Given the description of an element on the screen output the (x, y) to click on. 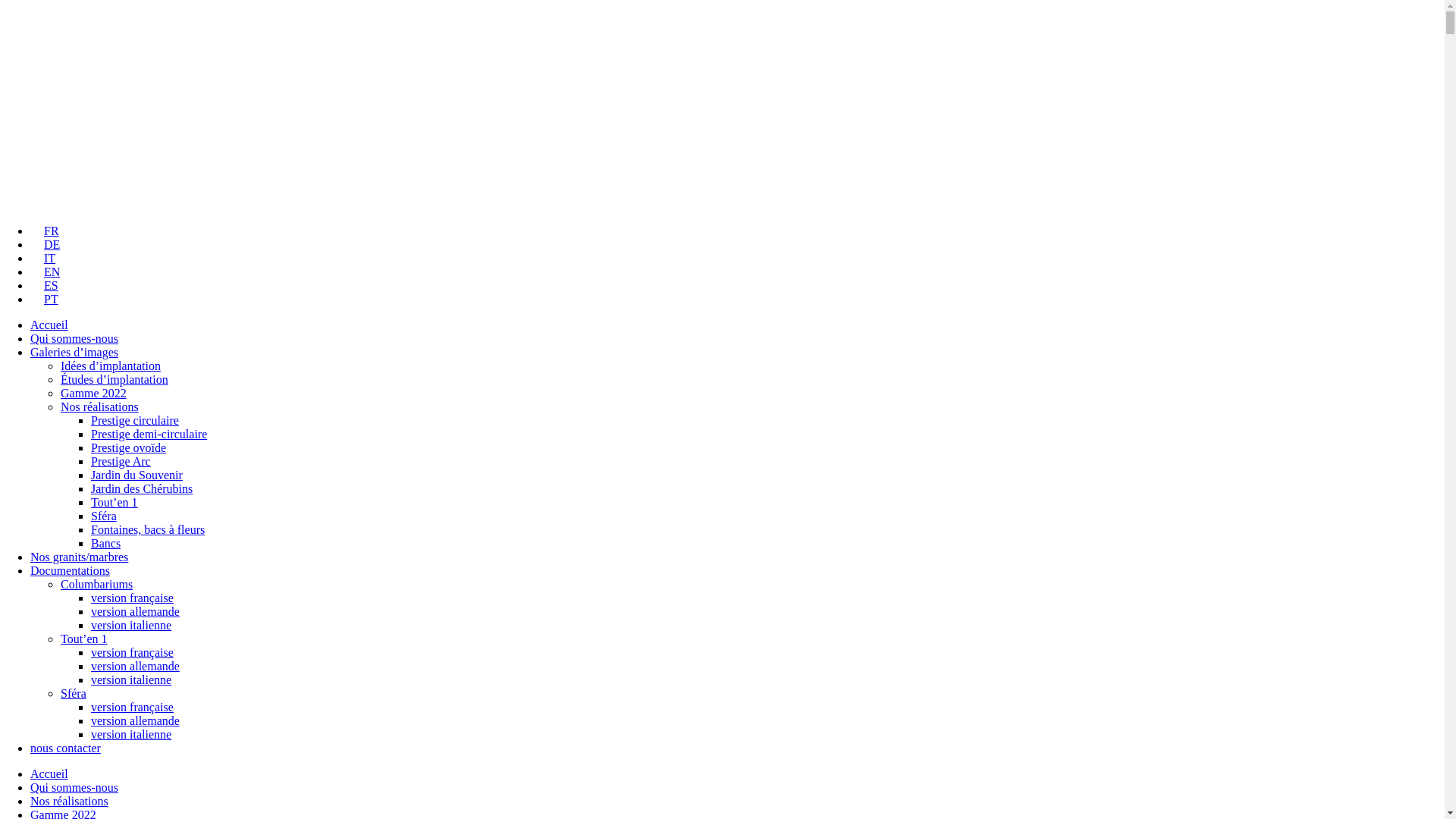
Bancs Element type: text (105, 542)
Qui sommes-nous Element type: text (74, 787)
EN Element type: text (44, 271)
Accueil Element type: text (49, 324)
Columbariums Element type: text (96, 583)
Gamme 2022 Element type: text (93, 392)
nous contacter Element type: text (65, 747)
Jardin du Souvenir Element type: text (136, 474)
ES Element type: text (44, 285)
version italienne Element type: text (131, 679)
Qui sommes-nous Element type: text (74, 338)
Prestige demi-circulaire Element type: text (149, 433)
Accueil Element type: text (49, 773)
version italienne Element type: text (131, 734)
FR Element type: text (44, 230)
version allemande Element type: text (135, 611)
Prestige Arc Element type: text (120, 461)
version allemande Element type: text (135, 720)
version allemande Element type: text (135, 665)
Prestige circulaire Element type: text (134, 420)
Documentations Element type: text (69, 570)
DE Element type: text (44, 244)
Nos granits/marbres Element type: text (79, 556)
version italienne Element type: text (131, 624)
IT Element type: text (42, 257)
PT Element type: text (44, 298)
